Given the description of an element on the screen output the (x, y) to click on. 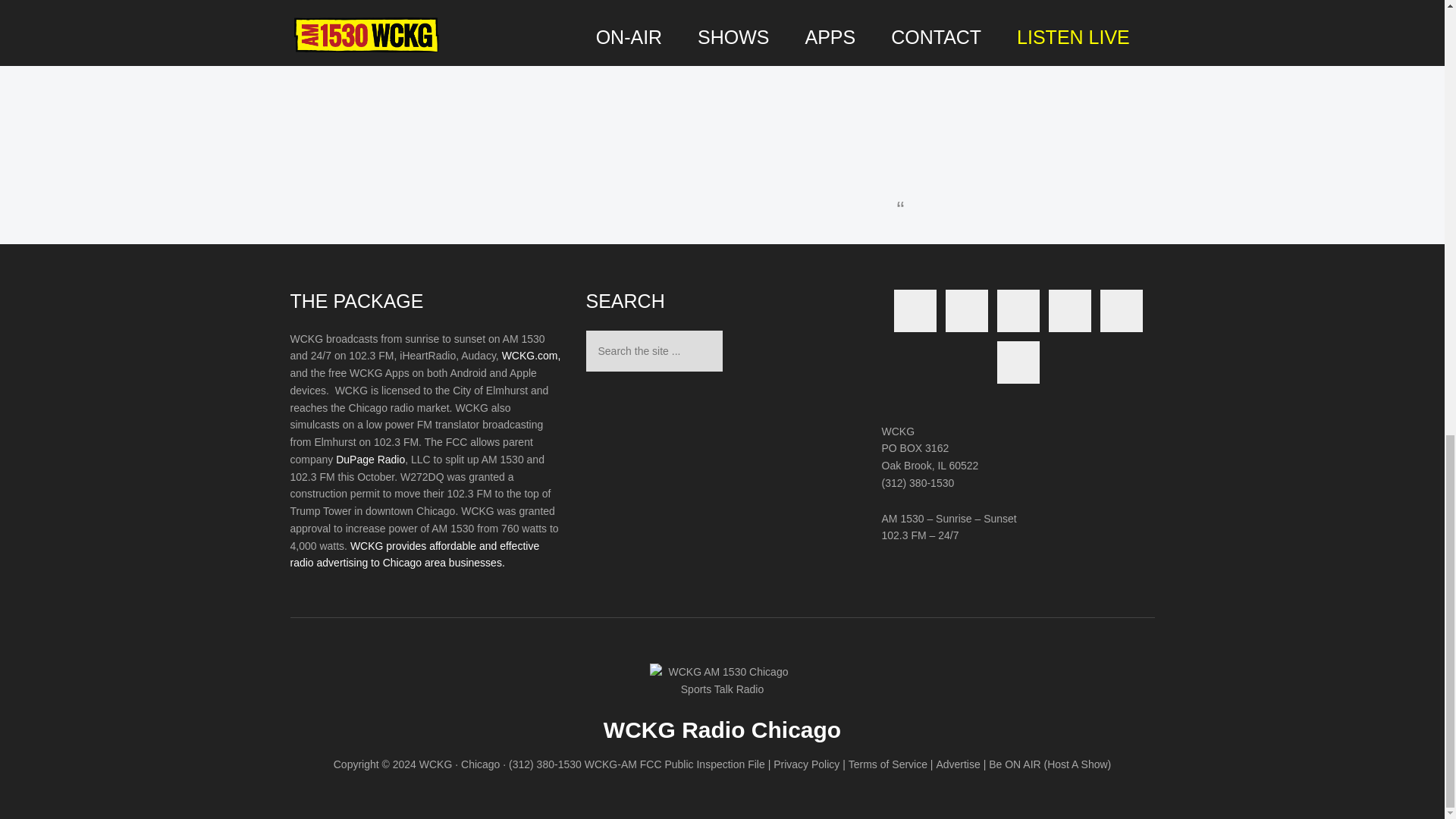
Page 1 (425, 450)
